Given the description of an element on the screen output the (x, y) to click on. 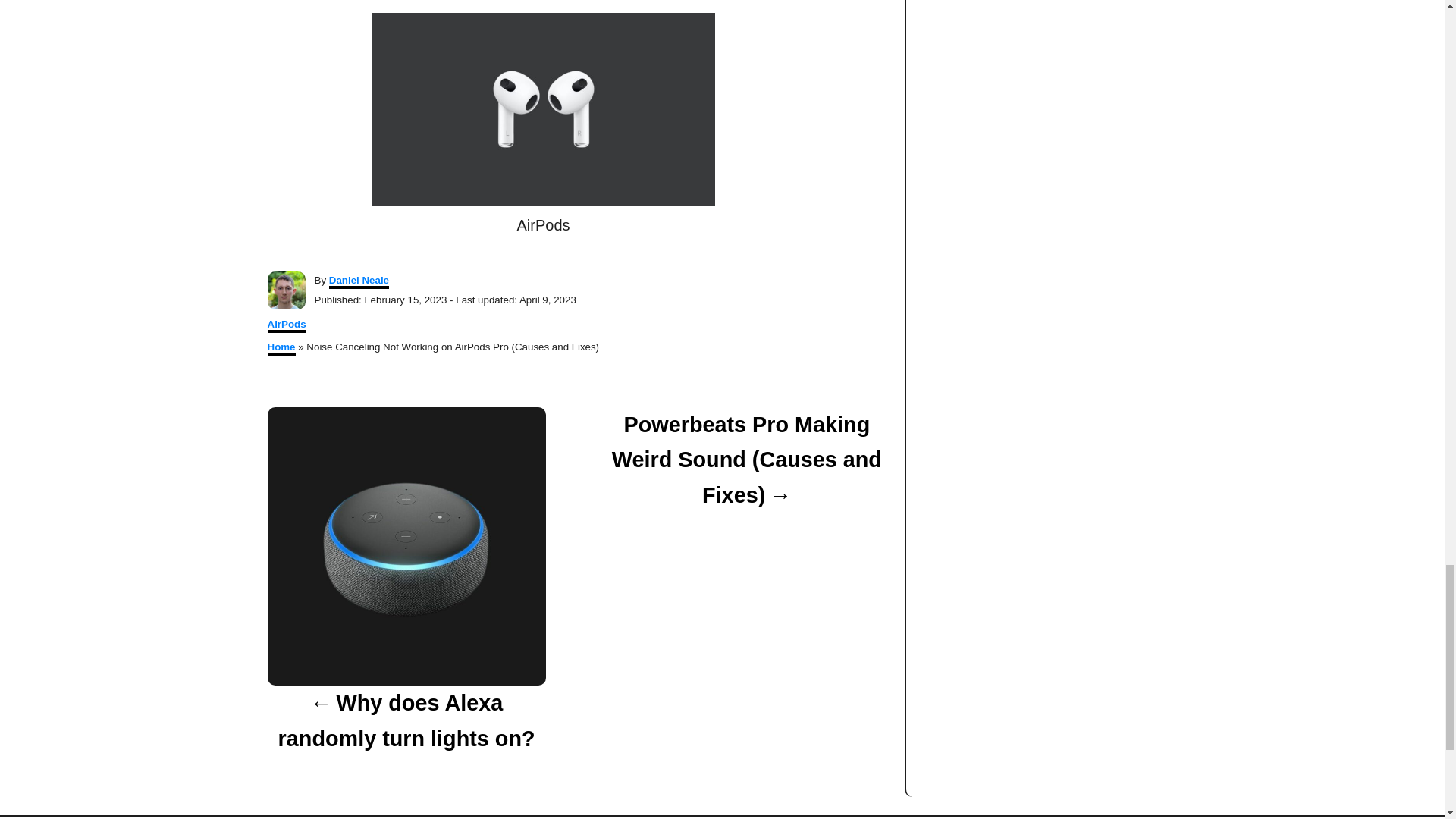
Why does Alexa randomly turn lights on? (405, 720)
Home (280, 348)
AirPods (285, 325)
Daniel Neale (358, 281)
